Given the description of an element on the screen output the (x, y) to click on. 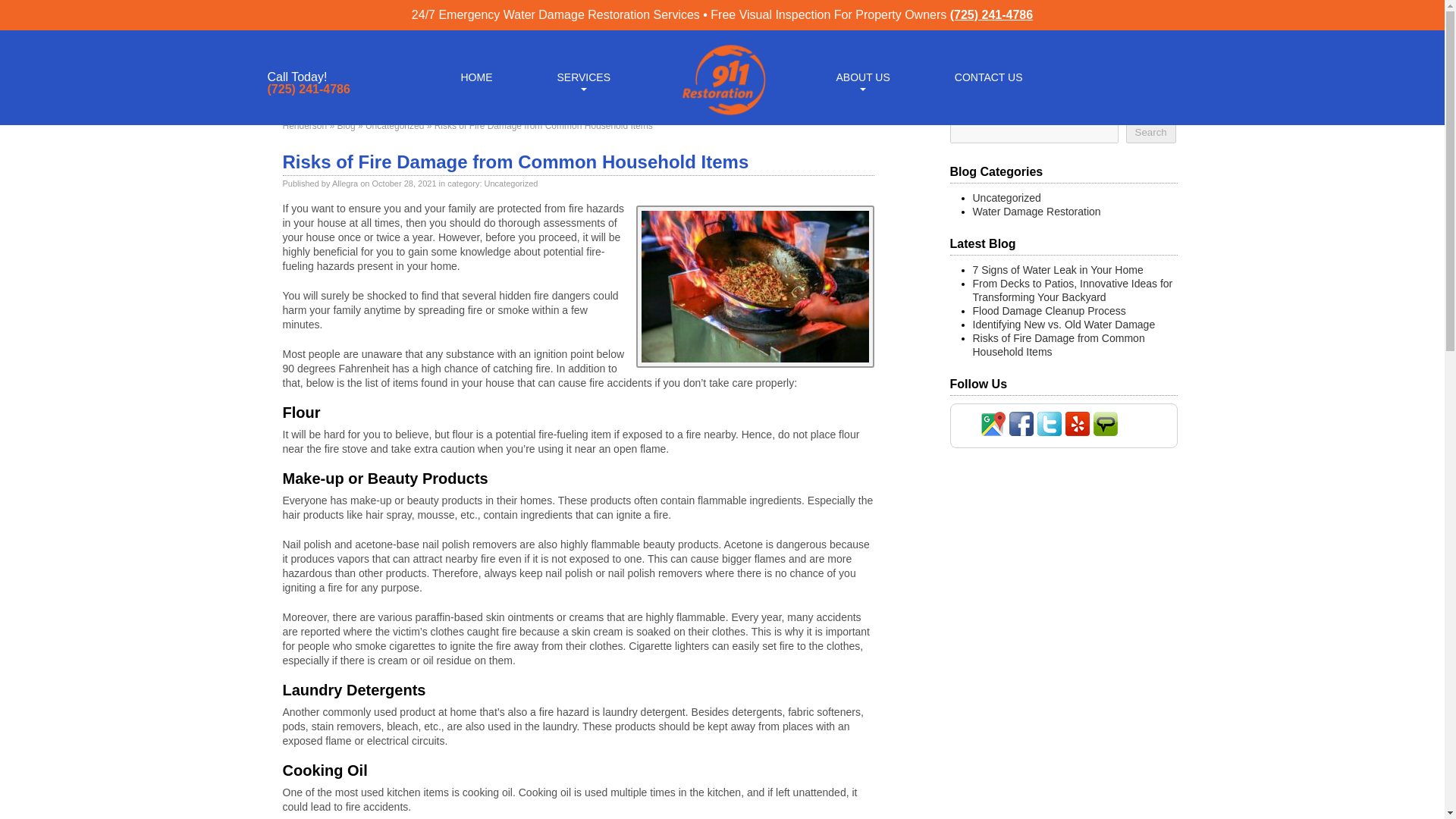
Go to Blog. (346, 125)
Go to Henderson. (304, 125)
HOME (476, 76)
ABOUT US (862, 76)
911 Water Damage Restoration Logo (721, 115)
Go to the Uncategorized category archives. (394, 125)
Search (1149, 132)
SERVICES (582, 76)
CONTACT US (988, 76)
